Given the description of an element on the screen output the (x, y) to click on. 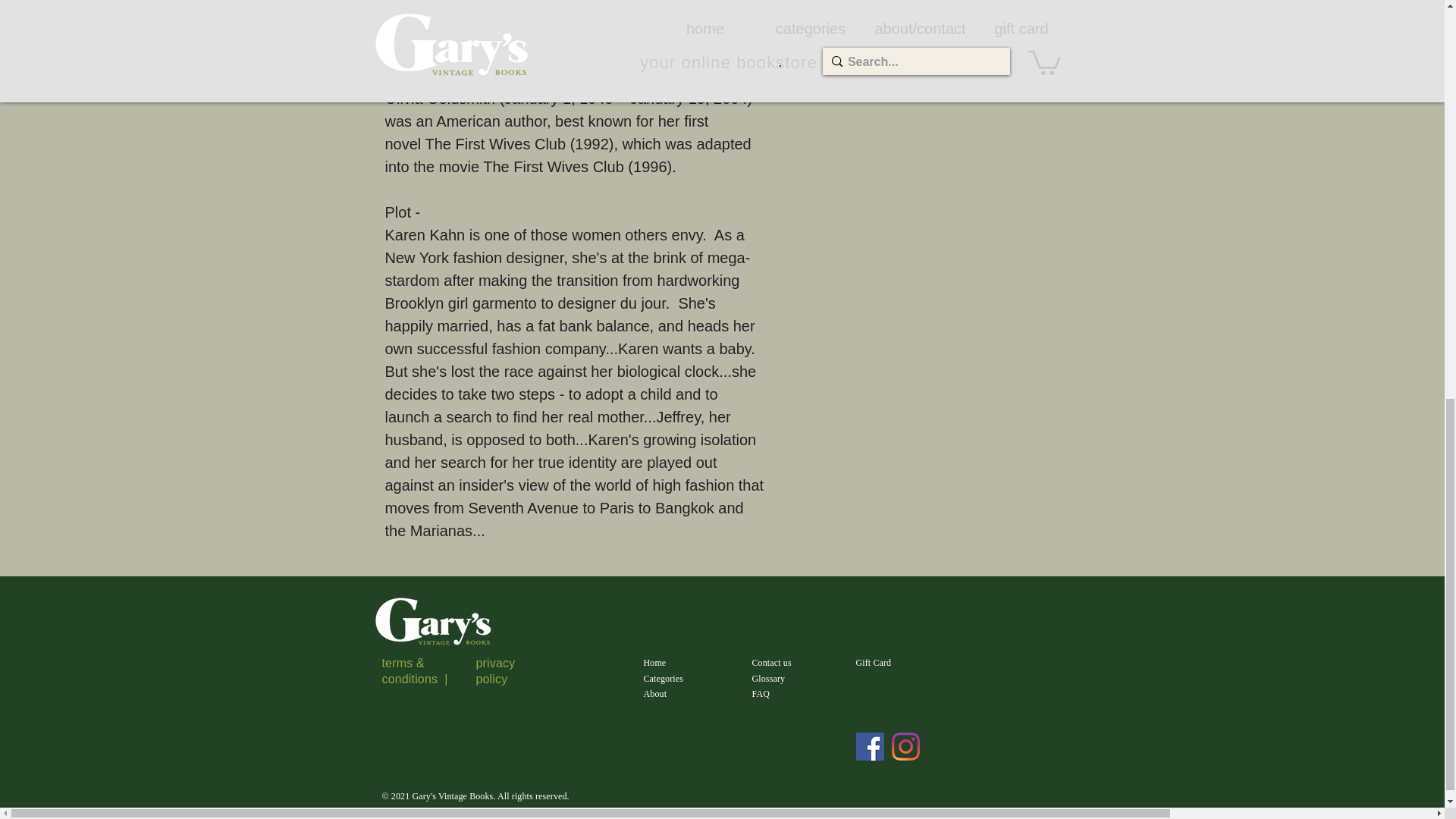
About (654, 693)
FAQ (761, 693)
Categories (662, 678)
privacy policy (495, 670)
Home (654, 662)
Glossary (769, 678)
Gift Card (873, 662)
Contact us (772, 662)
